Given the description of an element on the screen output the (x, y) to click on. 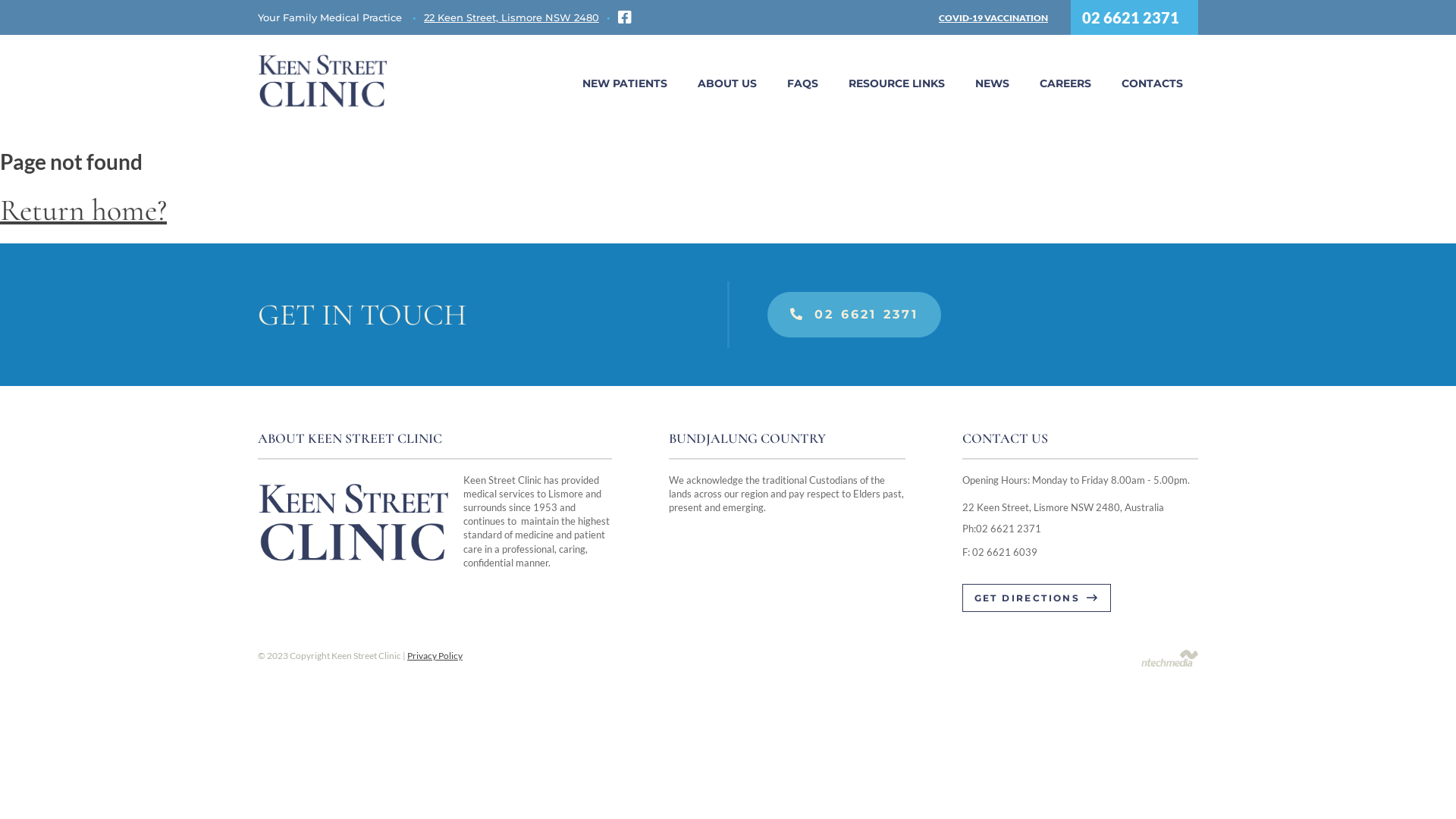
NTech Media Element type: hover (1169, 659)
Return home? Element type: text (83, 209)
GET DIRECTIONS Element type: text (1036, 597)
CONTACTS Element type: text (1152, 83)
CAREERS Element type: text (1065, 83)
02 6621 2371 Element type: text (854, 314)
FAQS Element type: text (802, 83)
NEWS Element type: text (992, 83)
Keen Street Clinic Element type: hover (321, 109)
Privacy Policy Element type: text (434, 655)
22 Keen Street, Lismore NSW 2480 Element type: text (511, 17)
RESOURCE LINKS Element type: text (896, 83)
02 6621 2371 Element type: text (1134, 17)
COVID-19 VACCINATION Element type: text (993, 17)
NEW PATIENTS Element type: text (624, 83)
ABOUT US Element type: text (726, 83)
